Given the description of an element on the screen output the (x, y) to click on. 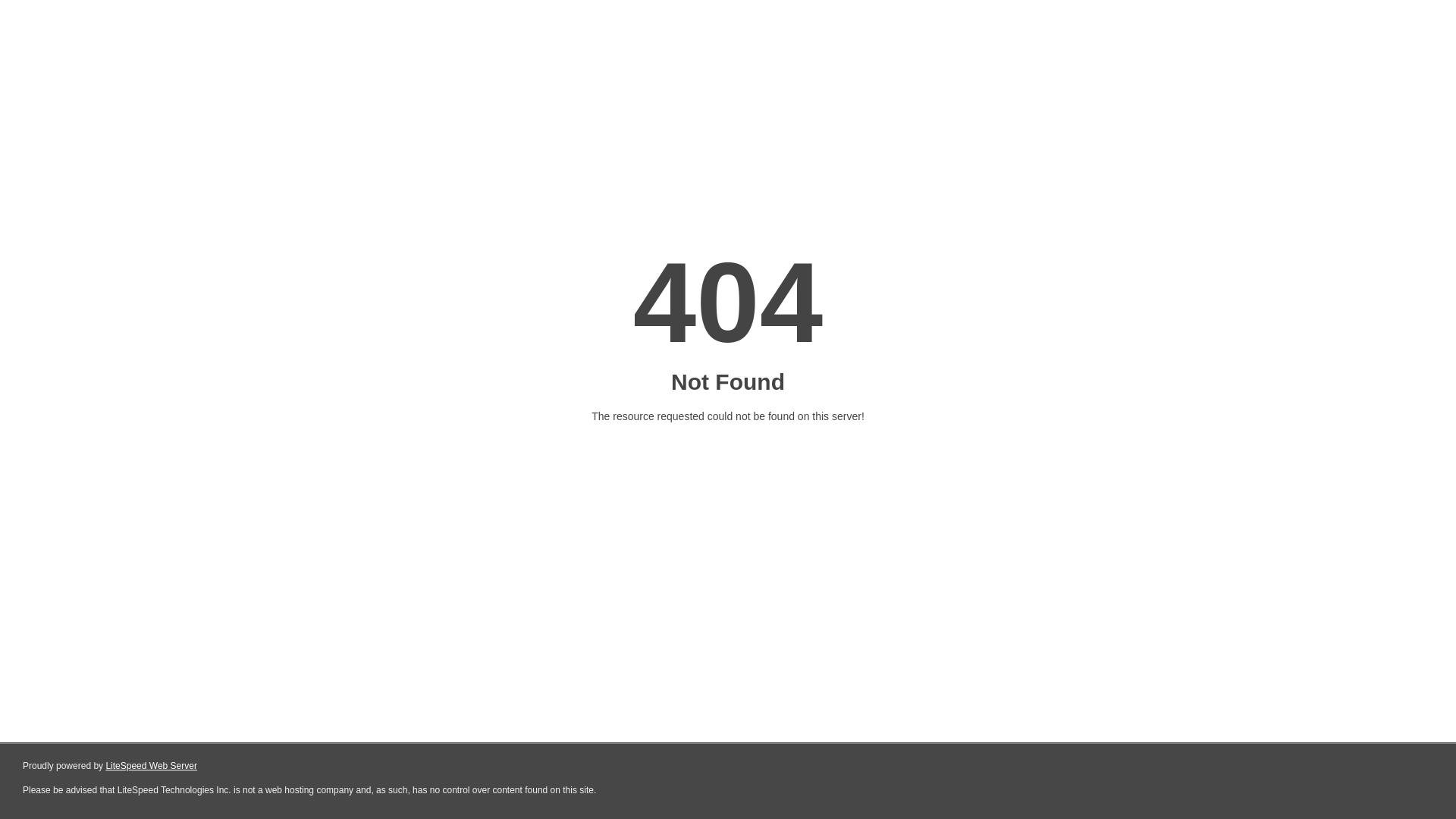
LiteSpeed Web Server Element type: text (151, 765)
